Given the description of an element on the screen output the (x, y) to click on. 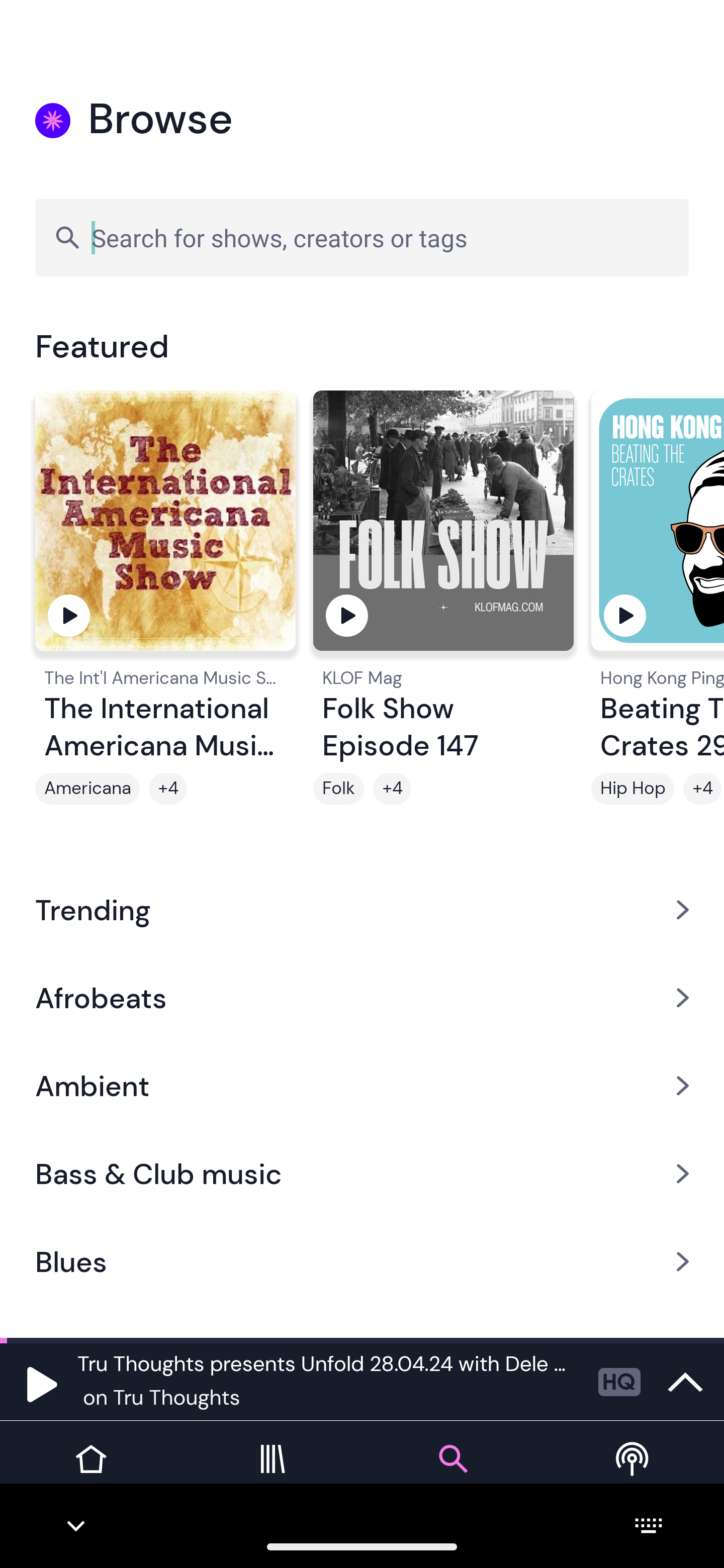
Search for shows, creators or tags (361, 237)
Americana (87, 788)
Folk (338, 788)
Hip Hop (632, 788)
Trending (361, 909)
Afrobeats (361, 997)
Ambient (361, 1085)
Bass & Club music (361, 1174)
Blues (361, 1262)
Home tab (90, 1473)
Library tab (271, 1473)
Browse tab (452, 1473)
Live tab (633, 1473)
